Given the description of an element on the screen output the (x, y) to click on. 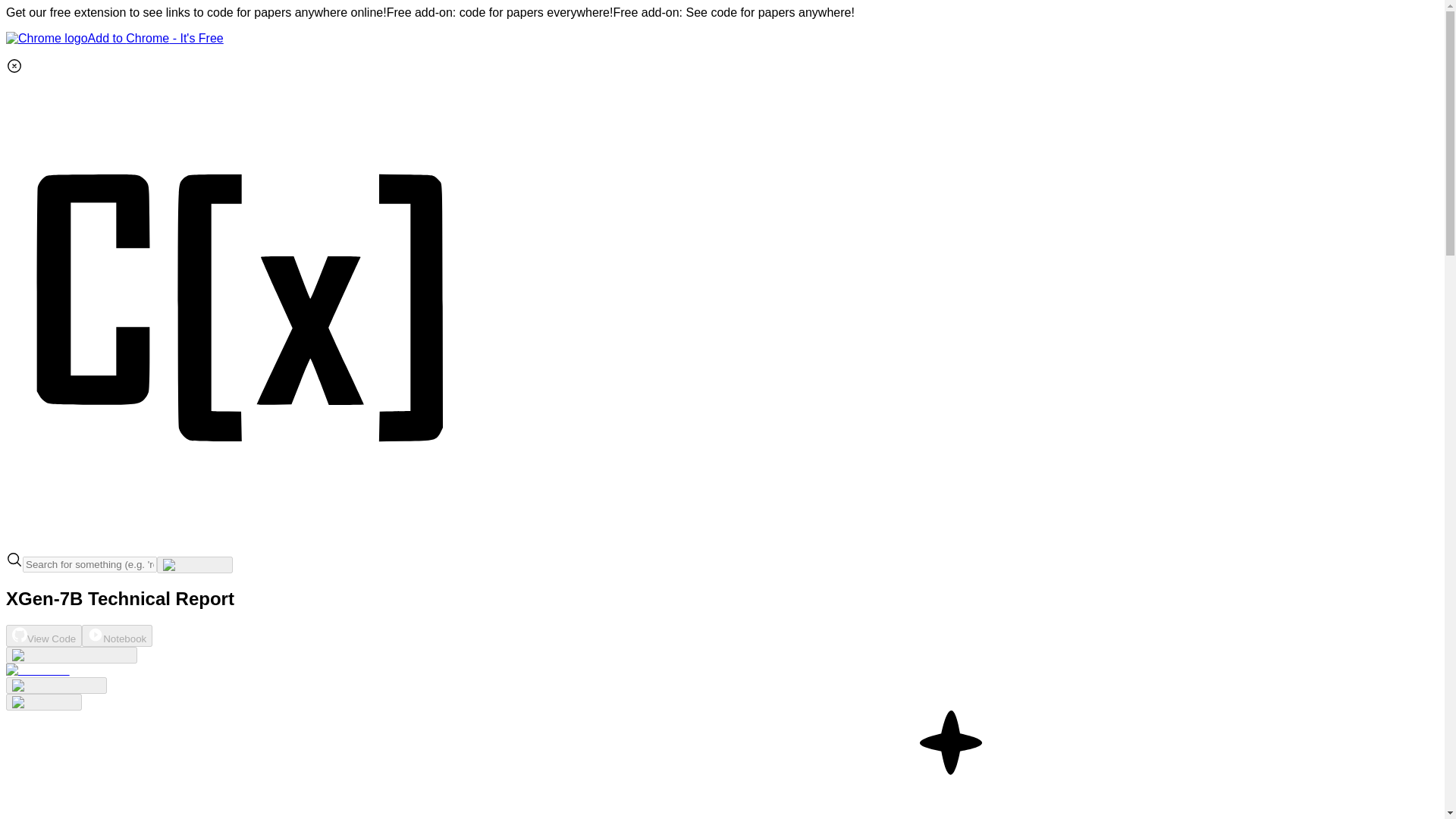
Play Icon (95, 634)
Github Icon (19, 634)
View code for similar papers (71, 654)
Bookmark this paper (55, 685)
Search Icon (14, 559)
Play IconNotebook (116, 635)
Contribute your code for this paper to the community (37, 670)
CatalyzeX Icon (241, 543)
Get alerts when new code is available for this paper (43, 701)
Github IconView Code (43, 635)
